Given the description of an element on the screen output the (x, y) to click on. 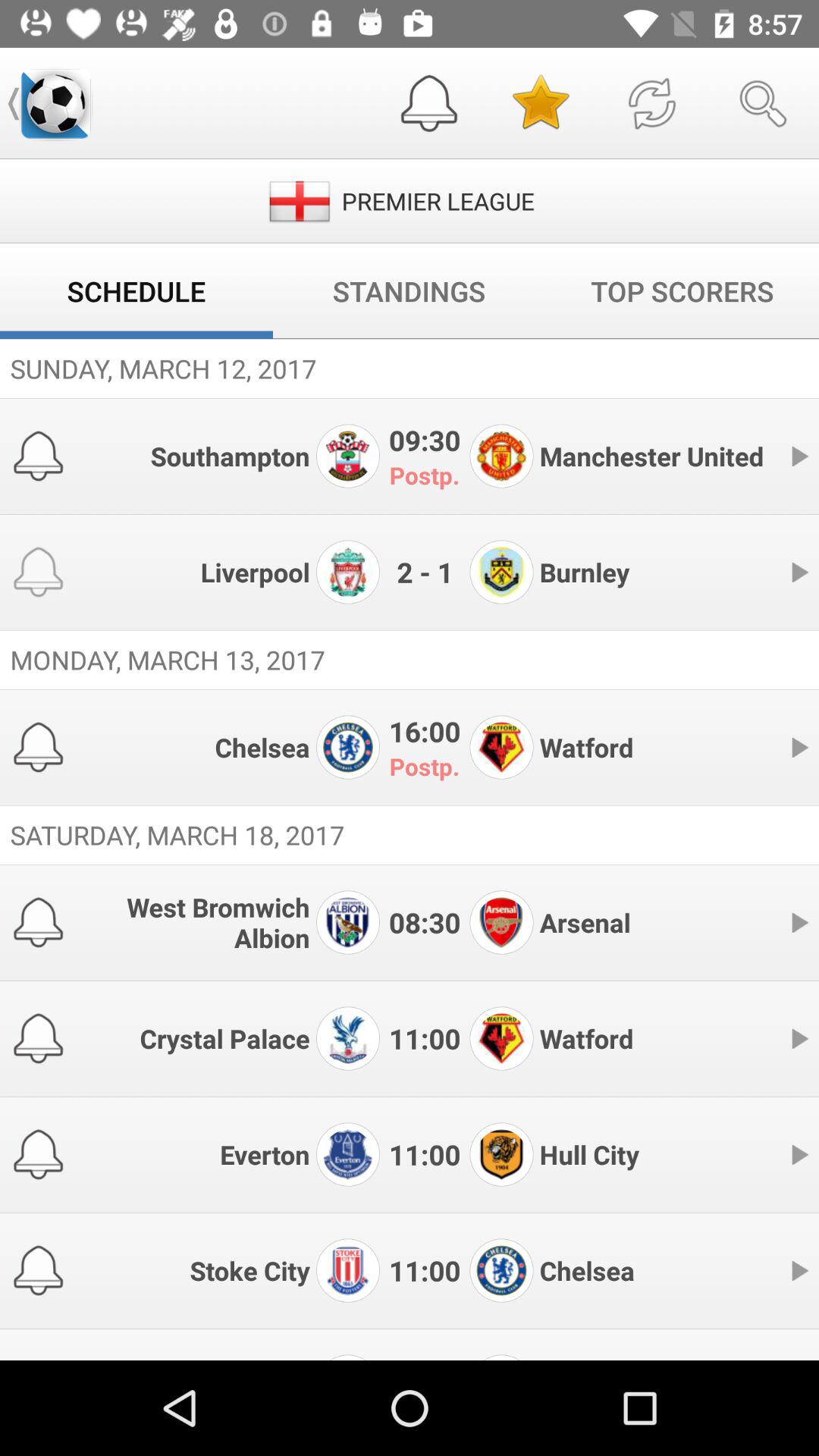
click item above premier league  item (540, 103)
